Given the description of an element on the screen output the (x, y) to click on. 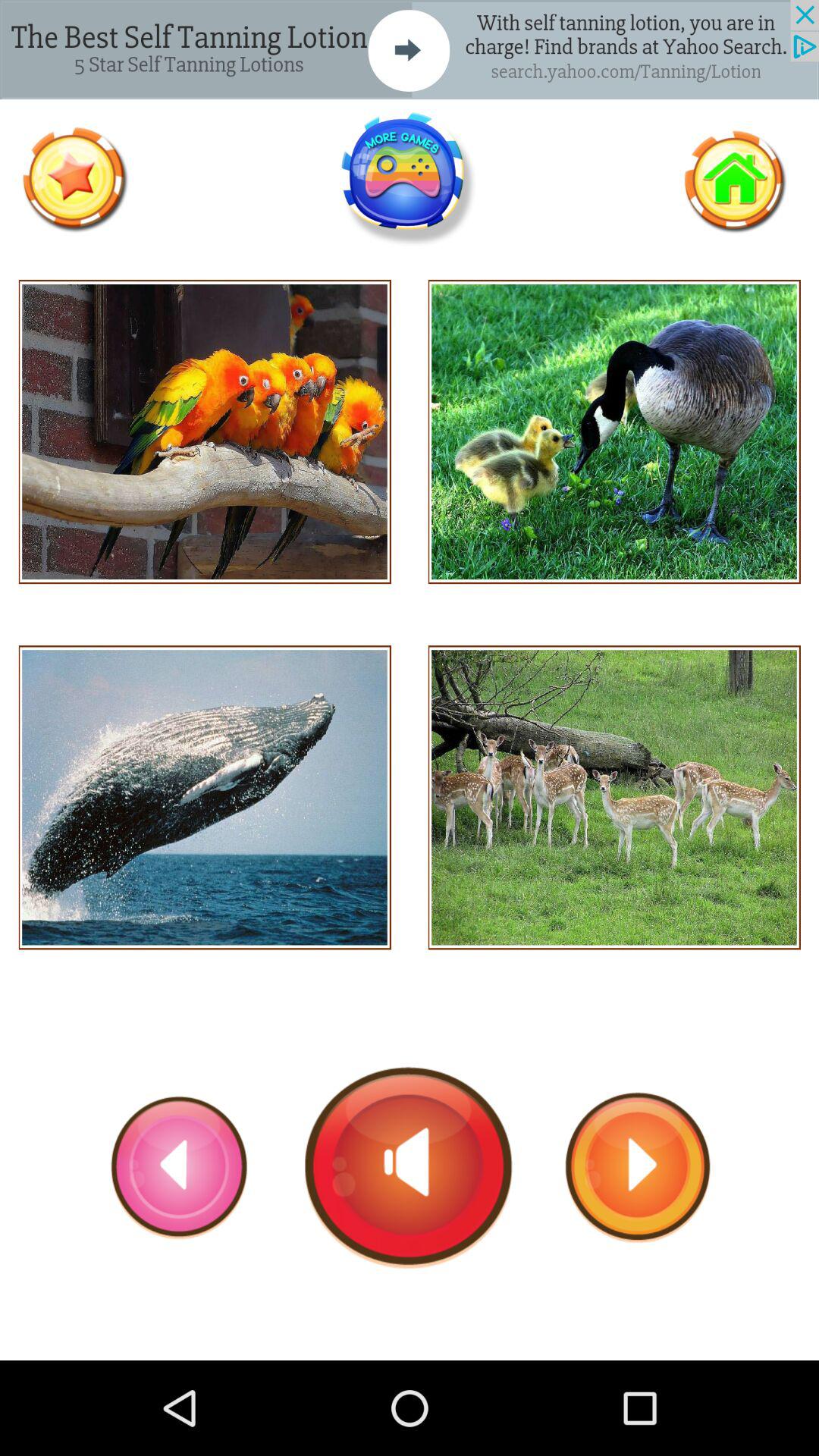
advertisement favardice (74, 179)
